Given the description of an element on the screen output the (x, y) to click on. 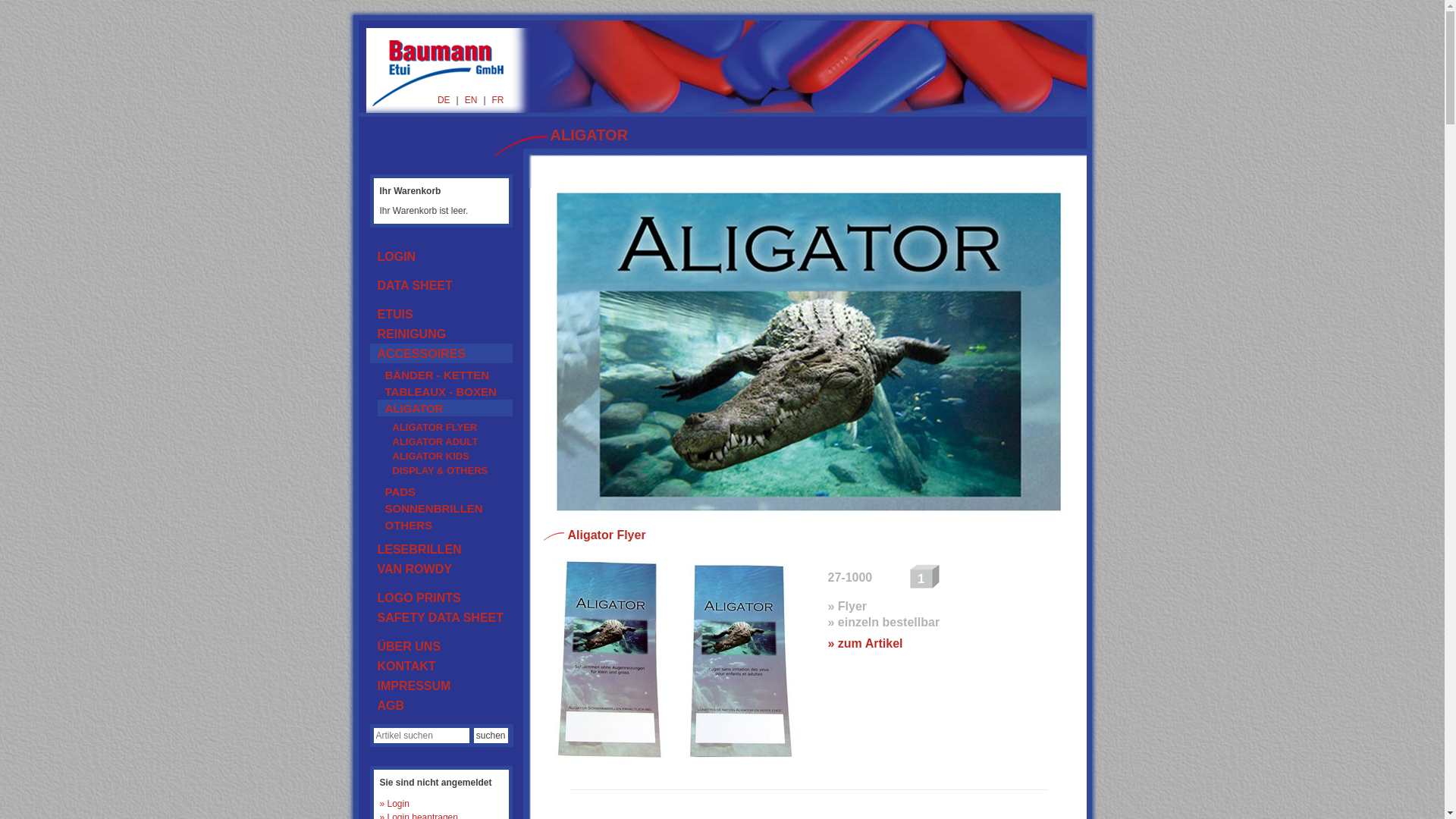
OTHERS Element type: text (444, 524)
TABLEAUX - BOXEN Element type: text (444, 390)
ETUIS Element type: text (441, 313)
DISPLAY & OTHERS Element type: text (448, 469)
ALIGATOR KIDS Element type: text (448, 455)
LOGIN Element type: text (441, 256)
ALIGATOR Prospekt  Element type: hover (675, 659)
ACCESSOIRES Element type: text (441, 353)
EN Element type: text (470, 99)
suchen Element type: text (490, 735)
ALIGATOR Element type: text (444, 407)
DE Element type: text (443, 99)
KONTAKT Element type: text (441, 665)
ALIGATOR FLYER Element type: text (448, 426)
FR Element type: text (497, 99)
ALIGATOR ADULT Element type: text (448, 440)
REINIGUNG Element type: text (441, 333)
IMPRESSUM Element type: text (441, 685)
PADS Element type: text (444, 491)
VAN ROWDY Element type: text (441, 568)
LOGO PRINTS Element type: text (441, 597)
LESEBRILLEN Element type: text (441, 548)
AGB Element type: text (441, 705)
DATA SHEET Element type: text (441, 284)
SAFETY DATA SHEET Element type: text (441, 617)
27-1000 Element type: text (850, 577)
SONNENBRILLEN Element type: text (444, 507)
